Given the description of an element on the screen output the (x, y) to click on. 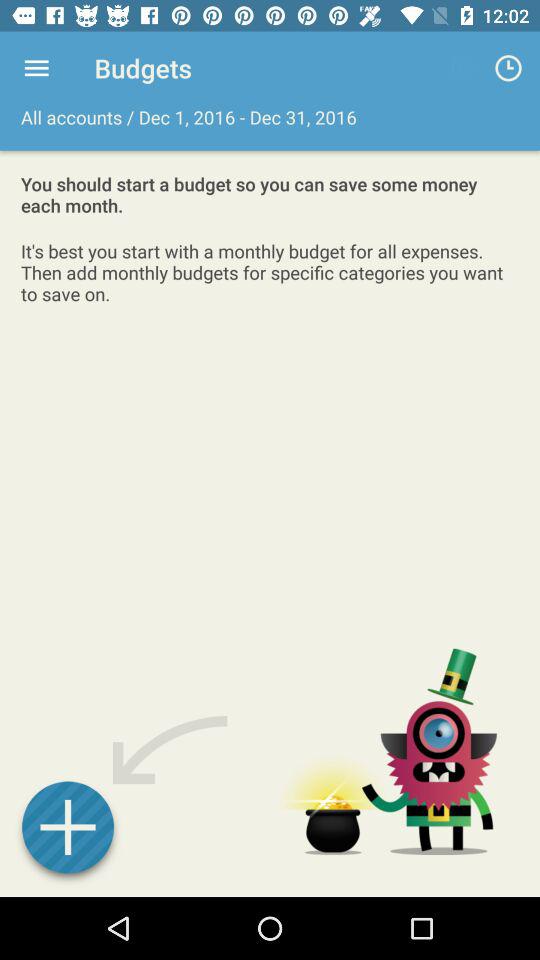
turn on icon at the top right corner (508, 67)
